Given the description of an element on the screen output the (x, y) to click on. 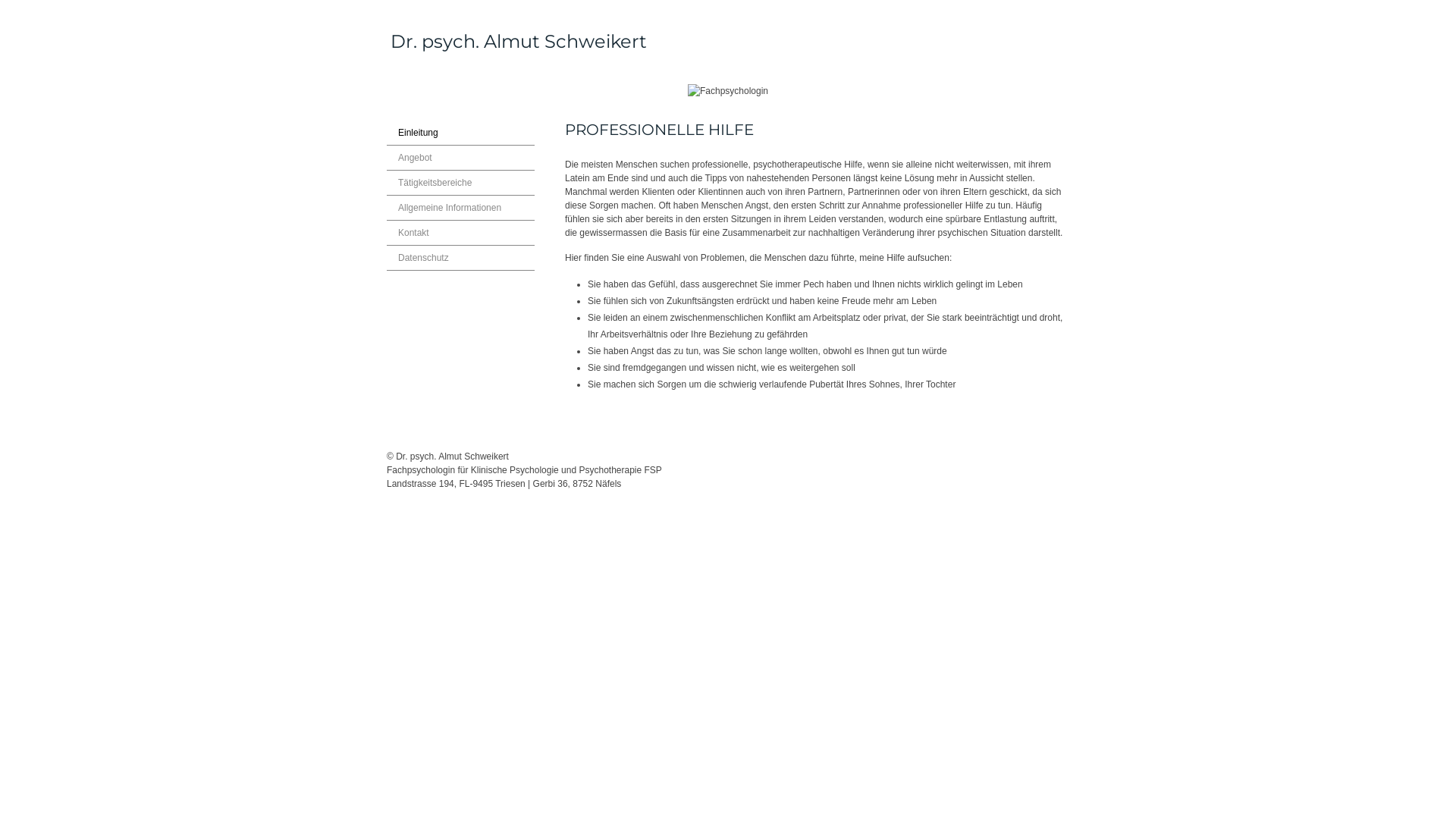
Dr. psych. Almut Schweikert Element type: text (518, 41)
Kontakt Element type: text (460, 232)
Angebot Element type: text (460, 157)
Einleitung Element type: text (460, 132)
Allgemeine Informationen Element type: text (460, 207)
Datenschutz Element type: text (460, 257)
